Given the description of an element on the screen output the (x, y) to click on. 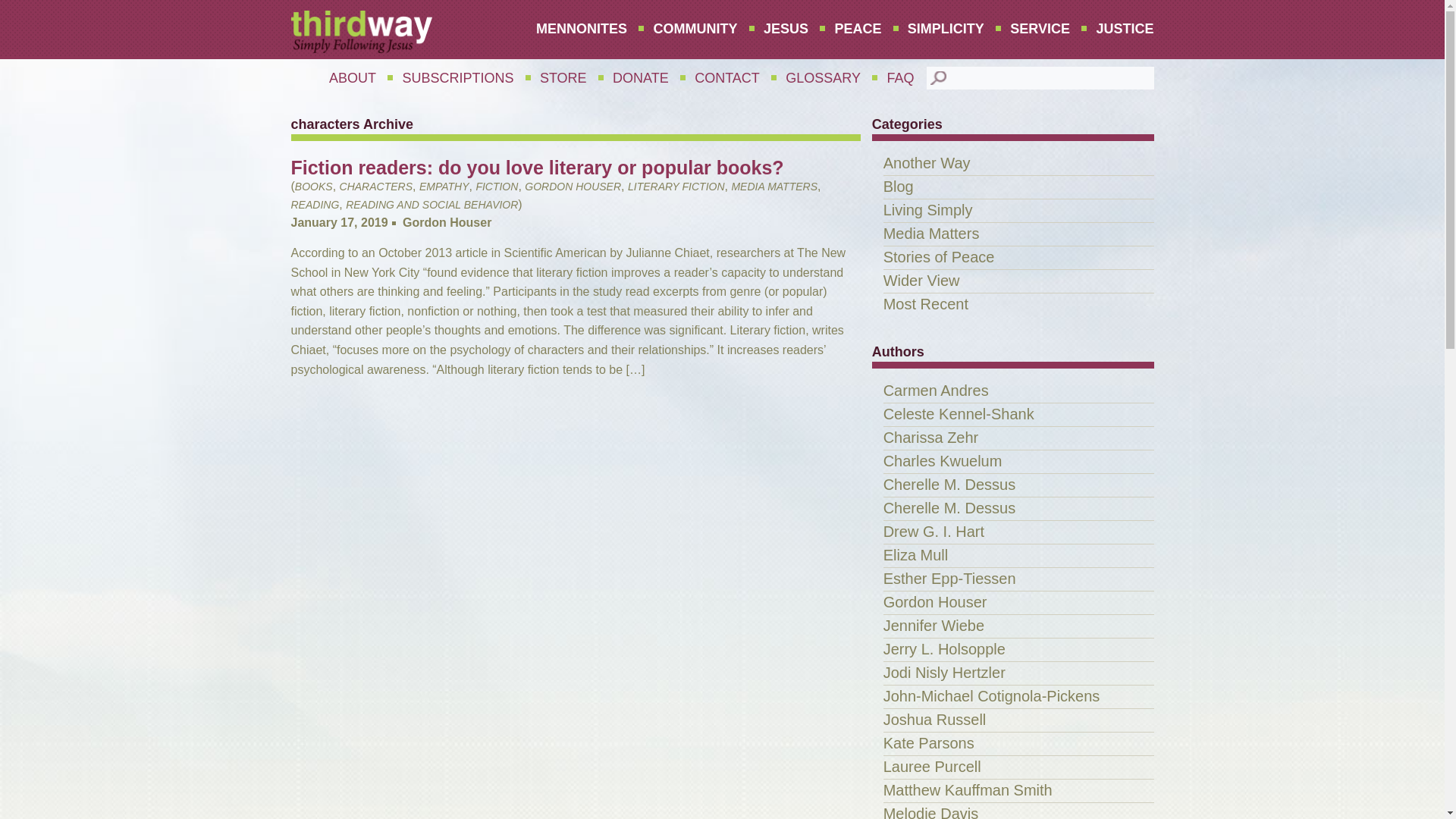
View all post filed under Jodi Nisly Hertzler (944, 672)
View all post filed under John-Michael Cotignola-Pickens (991, 695)
SIMPLICITY (945, 28)
View all post filed under Esther Epp-Tiessen (949, 578)
JUSTICE (1118, 28)
View all post filed under Carmen Andres (935, 390)
ABOUT (352, 78)
BOOKS (314, 186)
COMMUNITY (695, 28)
CONTACT (726, 78)
View all post filed under Jerry L. Holsopple (944, 648)
MENNONITES (581, 28)
View all post filed under Eliza Mull (916, 555)
READING AND SOCIAL BEHAVIOR (432, 204)
FAQ (899, 78)
